Given the description of an element on the screen output the (x, y) to click on. 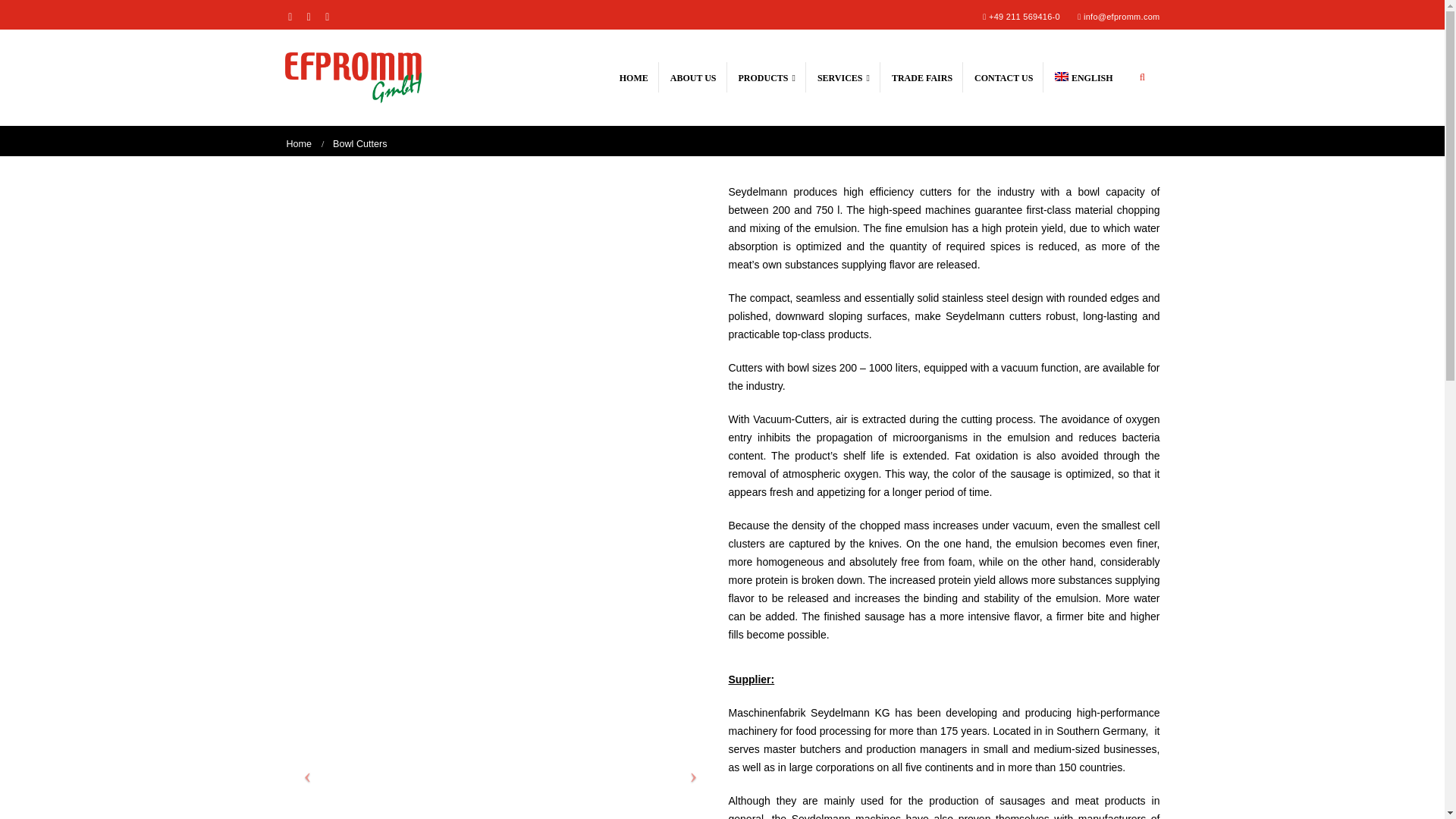
ENGLISH (1083, 77)
ABOUT US (693, 77)
EFPROMM - GmbH (353, 77)
CONTACT US (1003, 77)
SERVICES (844, 77)
Go to Home Page (299, 144)
LinkedIn (327, 16)
Instagram (308, 16)
PRODUCTS (767, 77)
English (1061, 76)
